Given the description of an element on the screen output the (x, y) to click on. 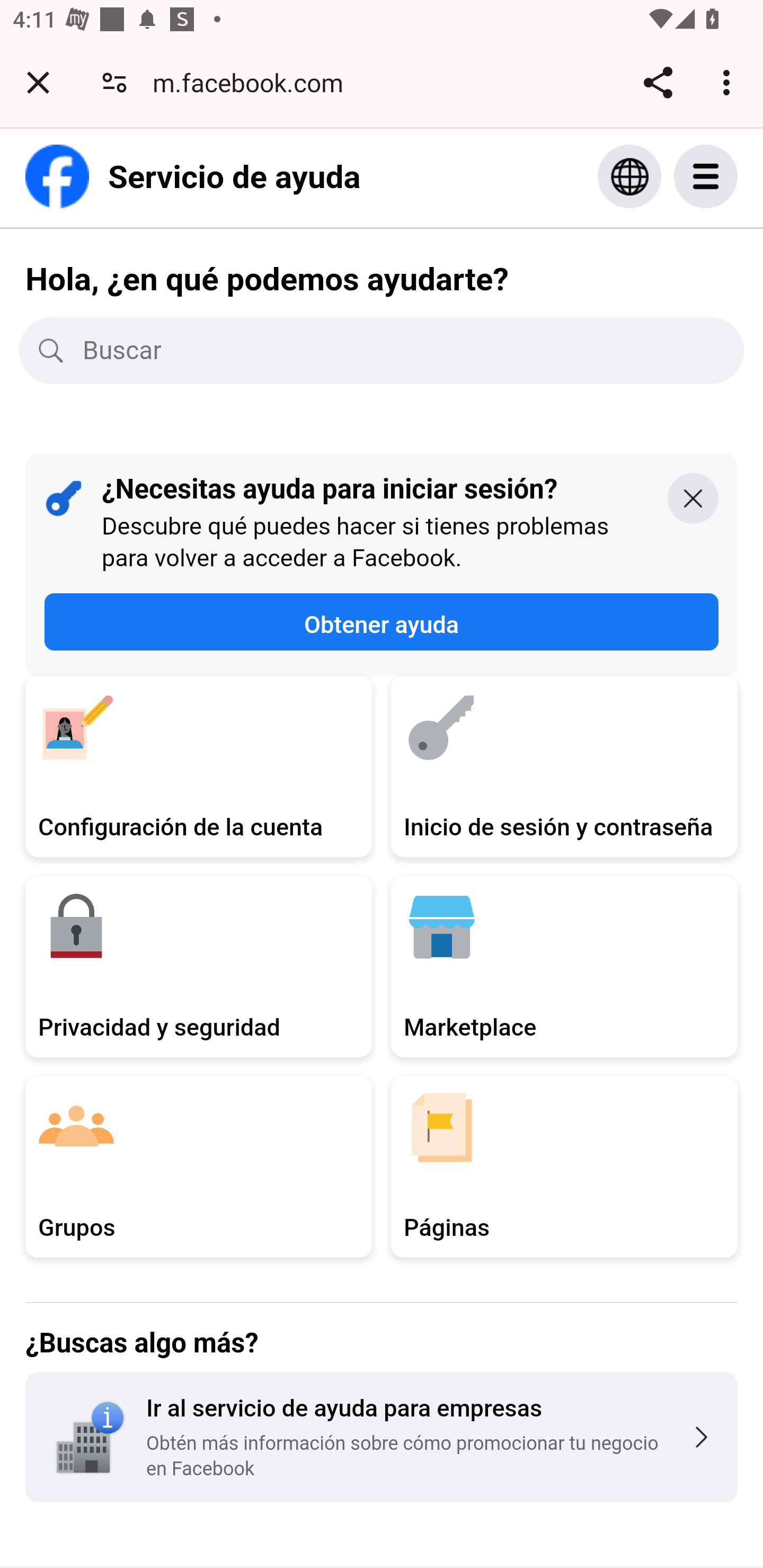
Close tab (38, 82)
Share (657, 82)
Customize and control Google Chrome (729, 82)
Connection is secure (114, 81)
m.facebook.com (254, 81)
Servicio de ayuda S9-8mgjtmdP Servicio de ayuda (192, 176)
Seleccionar el idioma (629, 176)
Menú del servicio de ayuda (724, 176)
Cerrar (692, 497)
Obtener ayuda (381, 622)
